Given the description of an element on the screen output the (x, y) to click on. 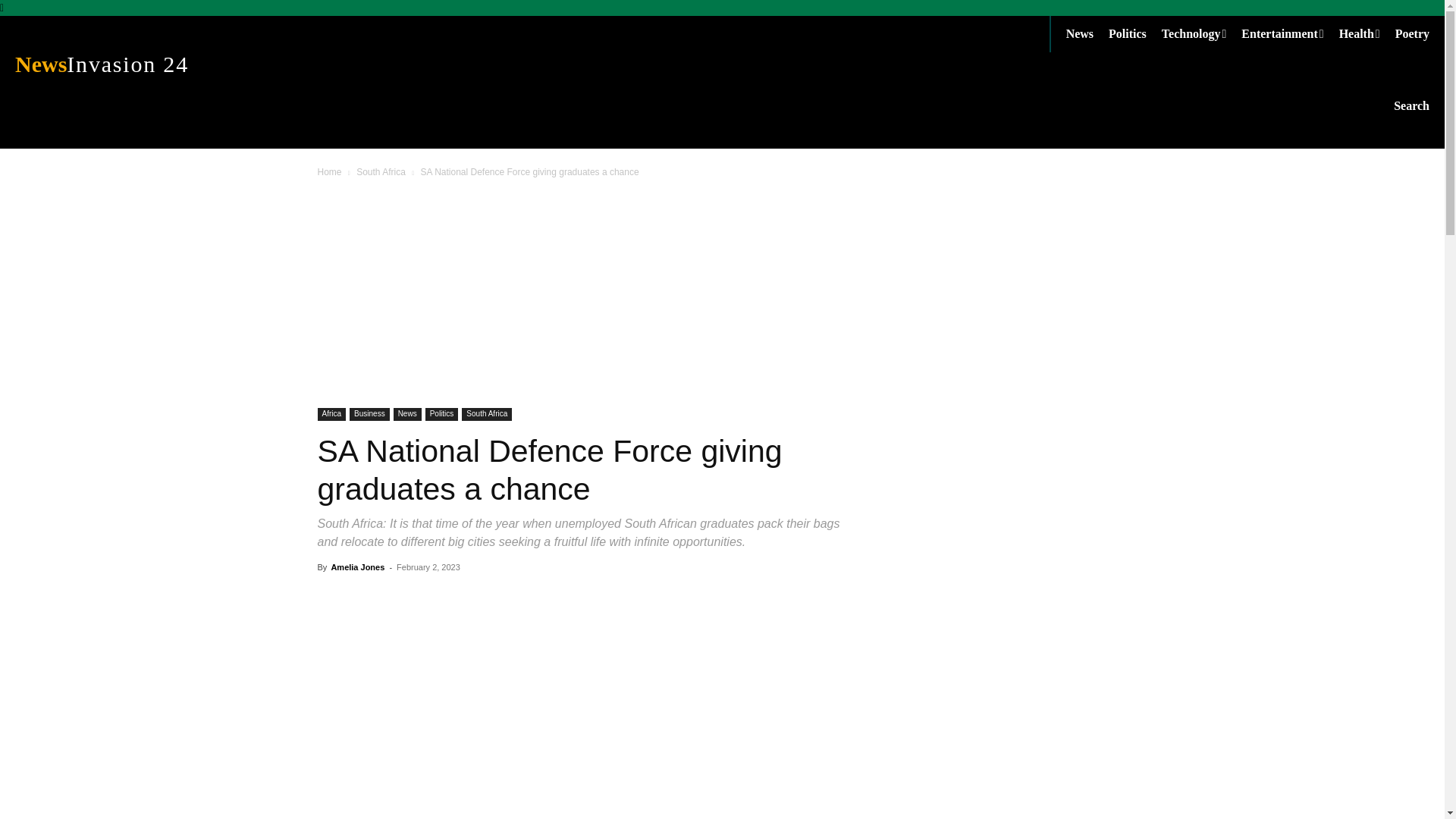
Health (173, 63)
Entertainment (1366, 33)
News (1289, 33)
Technology (1086, 33)
Advertisement (1201, 33)
Search (381, 172)
Politics (1411, 105)
